Given the description of an element on the screen output the (x, y) to click on. 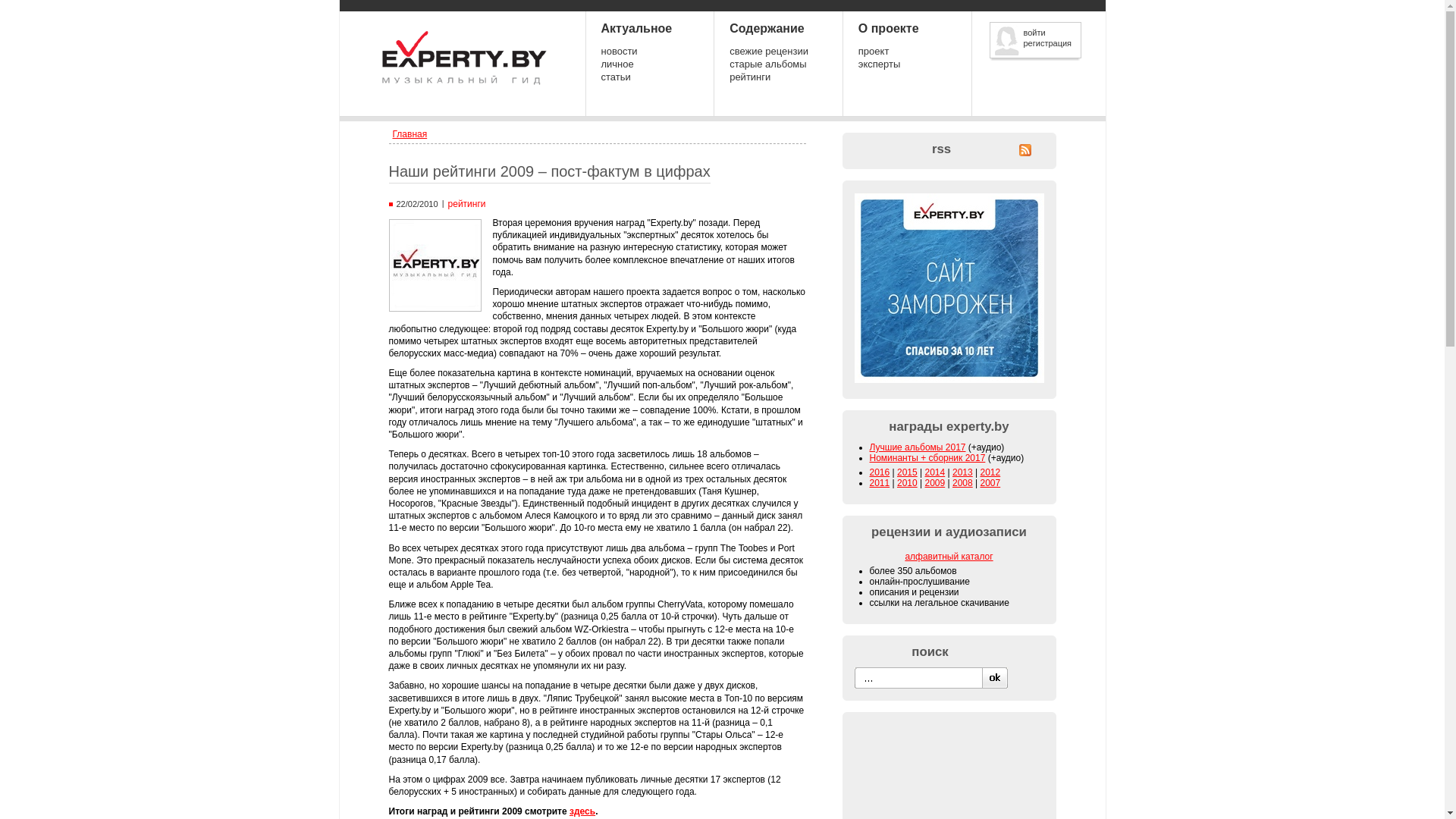
2008 Element type: text (962, 482)
2009 Element type: text (935, 482)
2014 Element type: text (935, 472)
2016 Element type: text (879, 472)
2010 Element type: text (907, 482)
2007 Element type: text (989, 482)
2011 Element type: text (879, 482)
2015 Element type: text (907, 472)
2013 Element type: text (962, 472)
2012 Element type: text (989, 472)
